Given the description of an element on the screen output the (x, y) to click on. 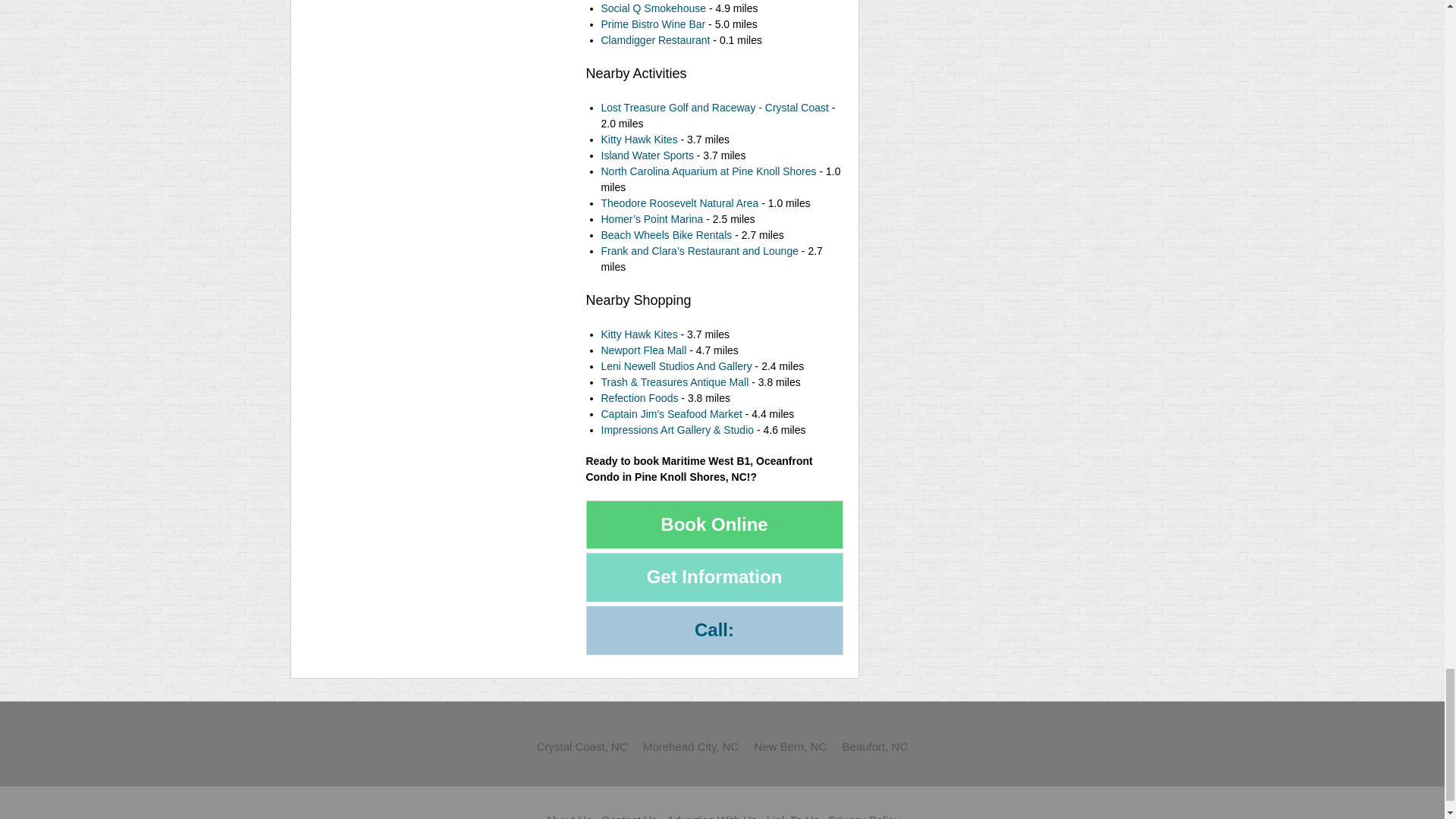
Kitty Hawk Kites (638, 139)
Prime Bistro Wine Bar (651, 24)
Social Q Smokehouse (652, 8)
Lost Treasure Golf and Raceway - Crystal Coast (713, 107)
Clamdigger Restaurant (654, 39)
